Given the description of an element on the screen output the (x, y) to click on. 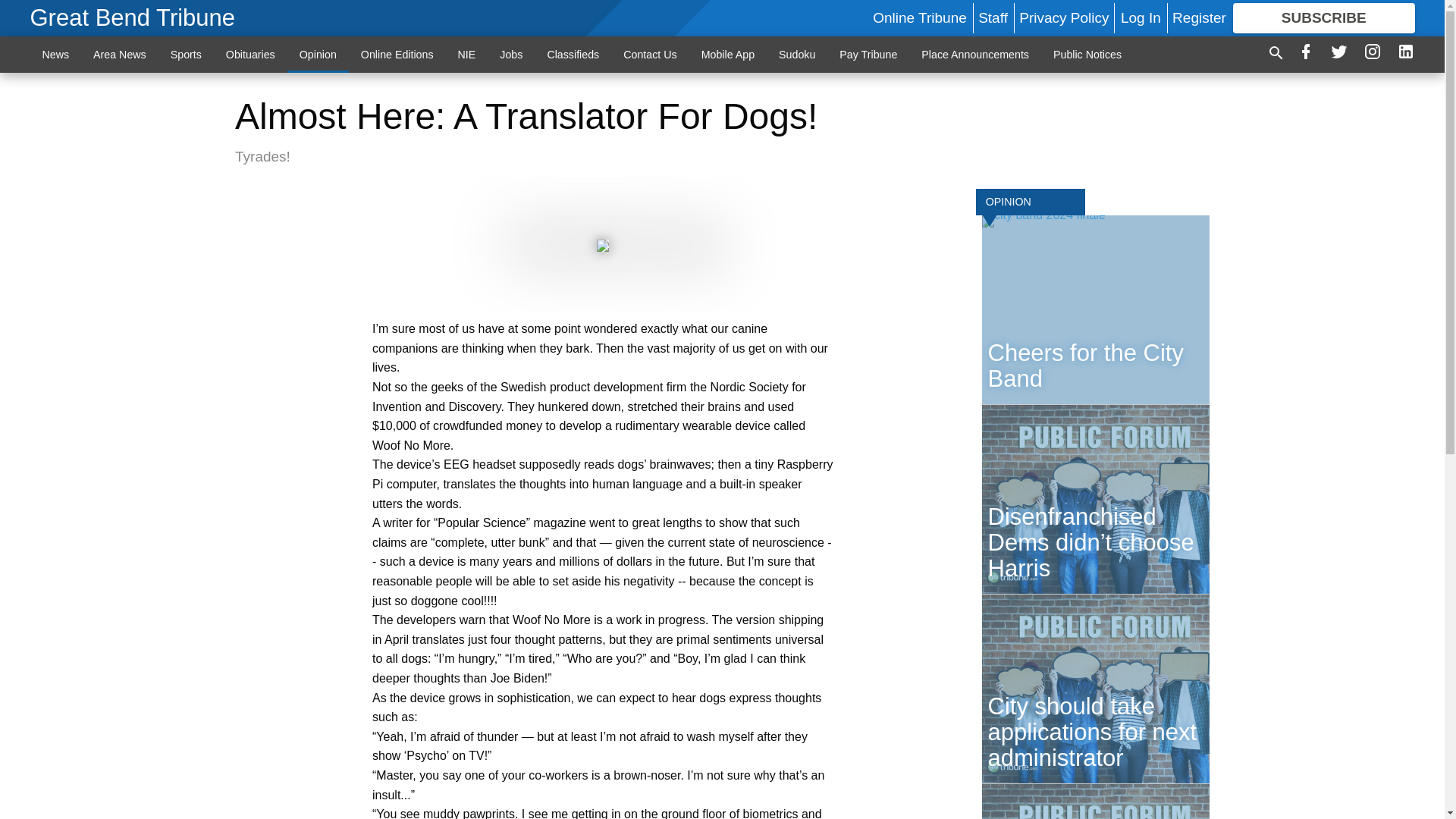
Obituaries (250, 54)
Log In (1140, 17)
Pay Tribune (867, 54)
Great Bend Tribune (132, 17)
Public Notices (1087, 54)
Area News (119, 54)
Register (1198, 17)
Online Editions (397, 54)
Mobile App (727, 54)
Jobs (510, 54)
Place Announcements (974, 54)
Online Tribune (919, 17)
News (55, 54)
Opinion (317, 54)
NIE (466, 54)
